Given the description of an element on the screen output the (x, y) to click on. 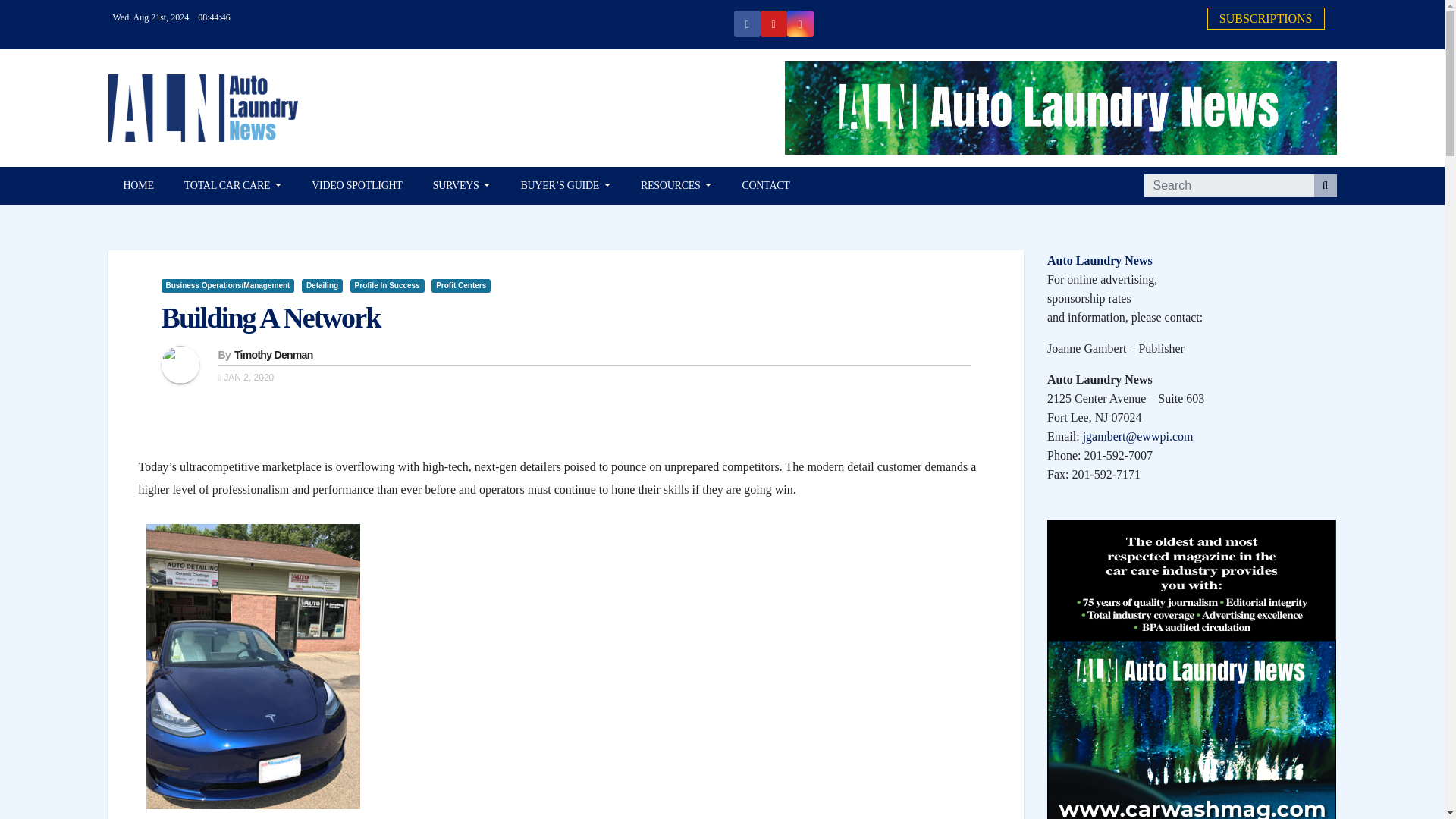
SURVEYS (461, 185)
Home (137, 185)
HOME (137, 185)
TOTAL CAR CARE (232, 185)
VIDEO SPOTLIGHT (357, 185)
Total Car Care (232, 185)
SUBSCRIPTIONS (1265, 18)
